Given the description of an element on the screen output the (x, y) to click on. 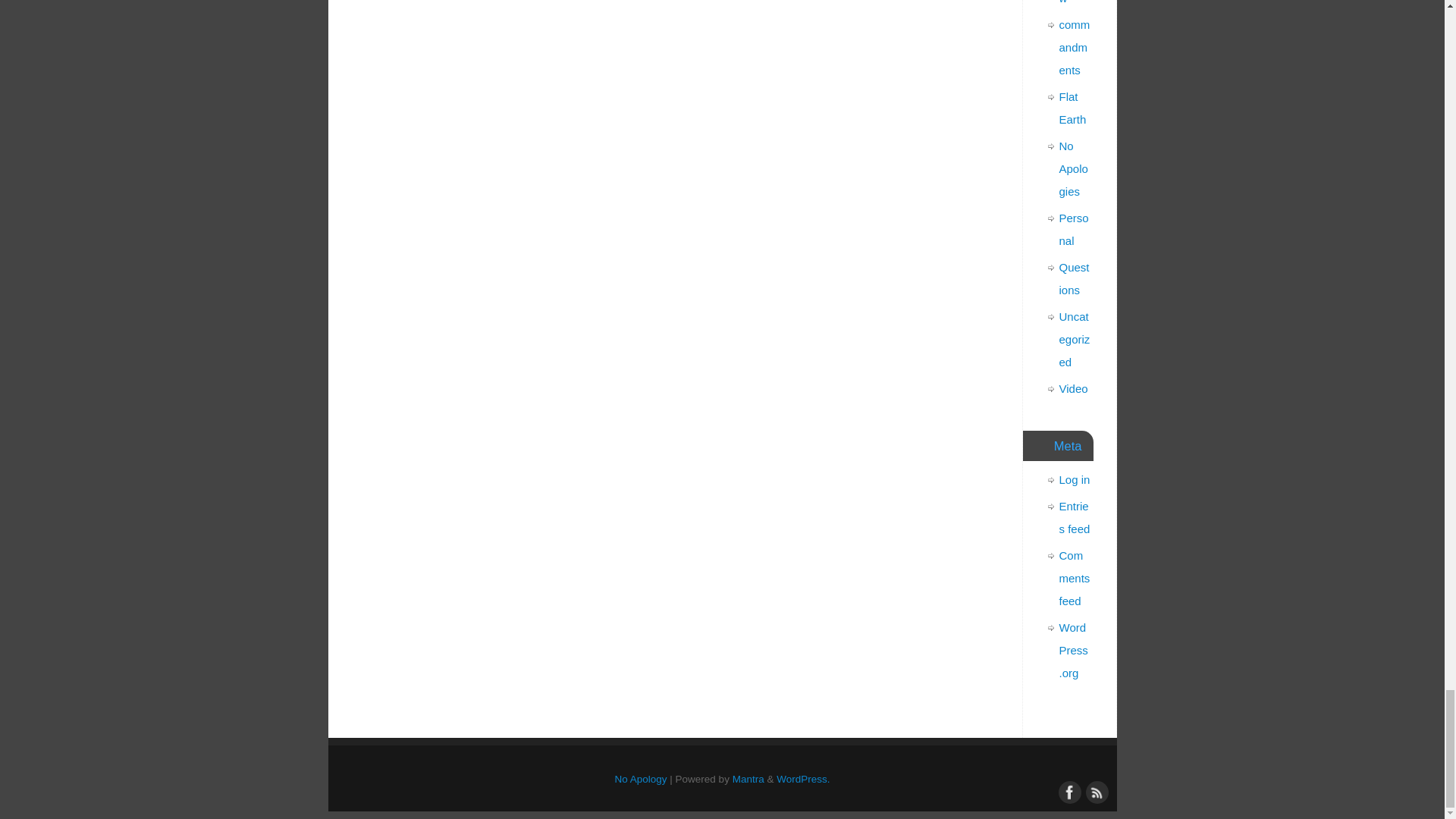
RSS (1095, 790)
Mantra Theme by Cryout Creations (748, 778)
Facebook (1068, 790)
No Apology (640, 778)
Semantic Personal Publishing Platform (802, 778)
